Given the description of an element on the screen output the (x, y) to click on. 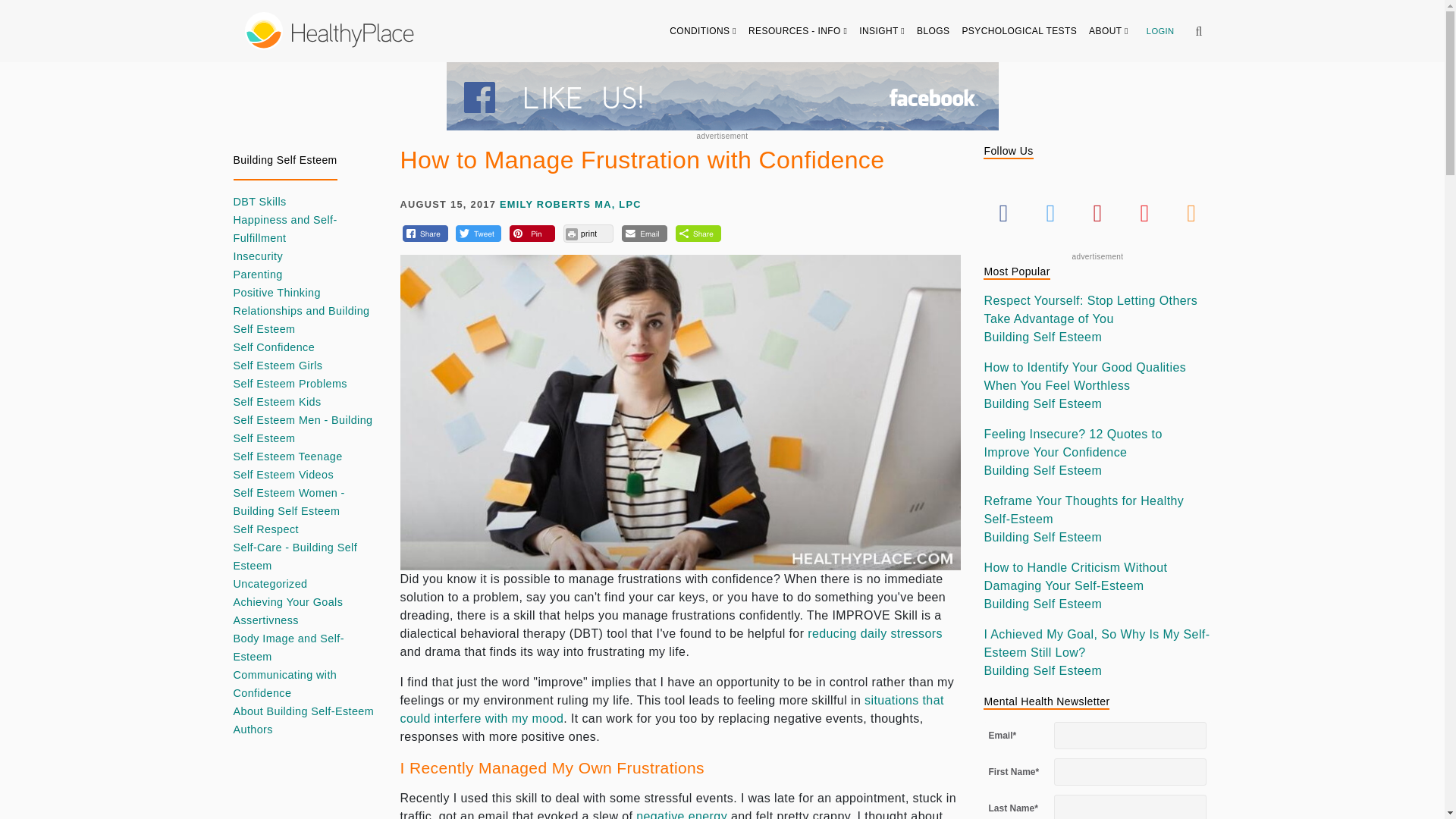
CONDITIONS (702, 31)
INSIGHT (882, 31)
RESOURCES - INFO (797, 31)
Join our Facebook community for mental health support (721, 96)
